Given the description of an element on the screen output the (x, y) to click on. 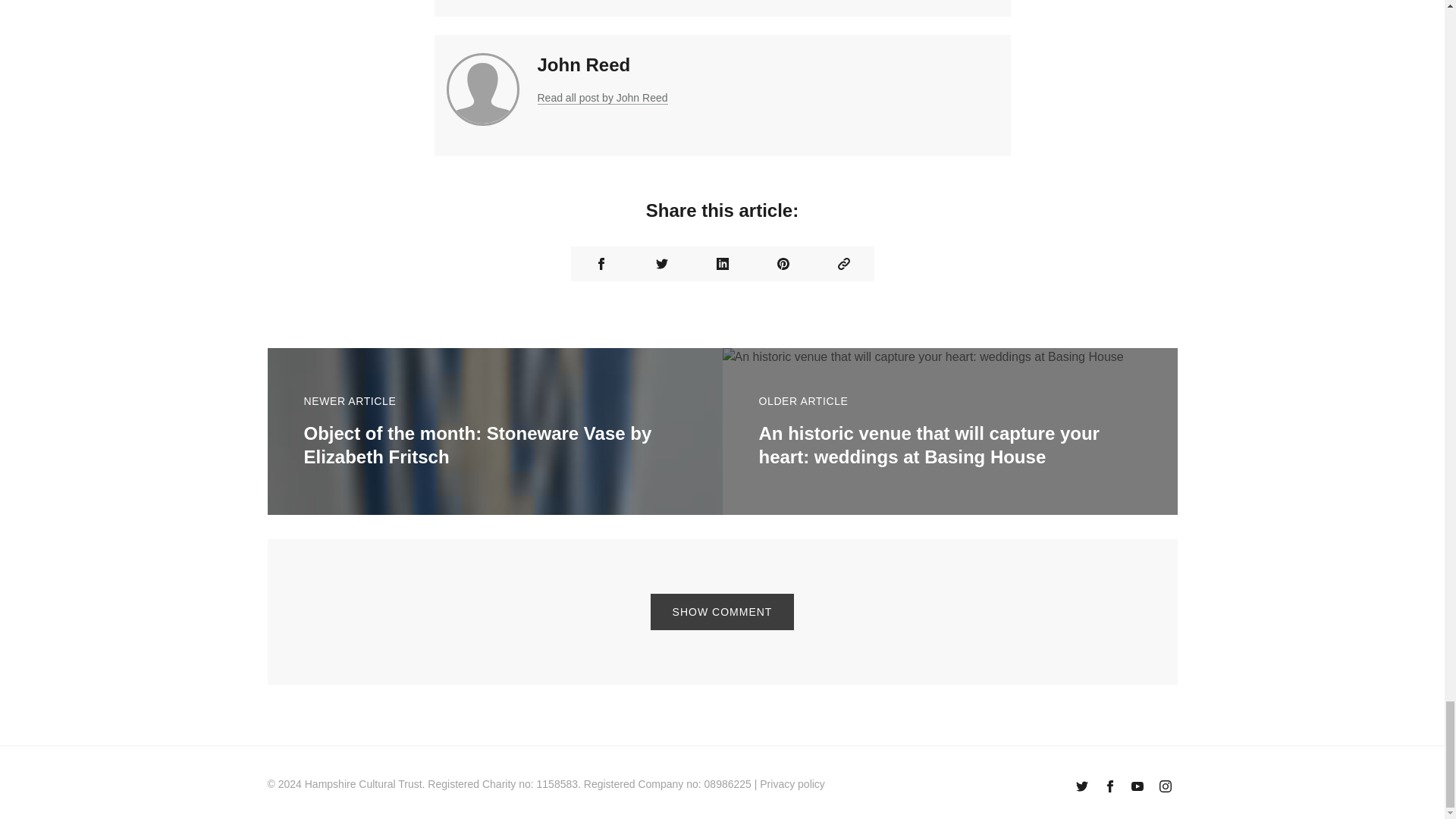
Read all post by John Reed (601, 97)
Share on Linkedin (721, 263)
Share on Facebook (600, 263)
Object of the month: Stoneware Vase by Elizabeth Fritsch (476, 444)
Share on Twitter (660, 263)
John Reed (583, 64)
Copy the permalink (842, 263)
Share on Pinterest (782, 263)
SHOW COMMENT (722, 611)
